Given the description of an element on the screen output the (x, y) to click on. 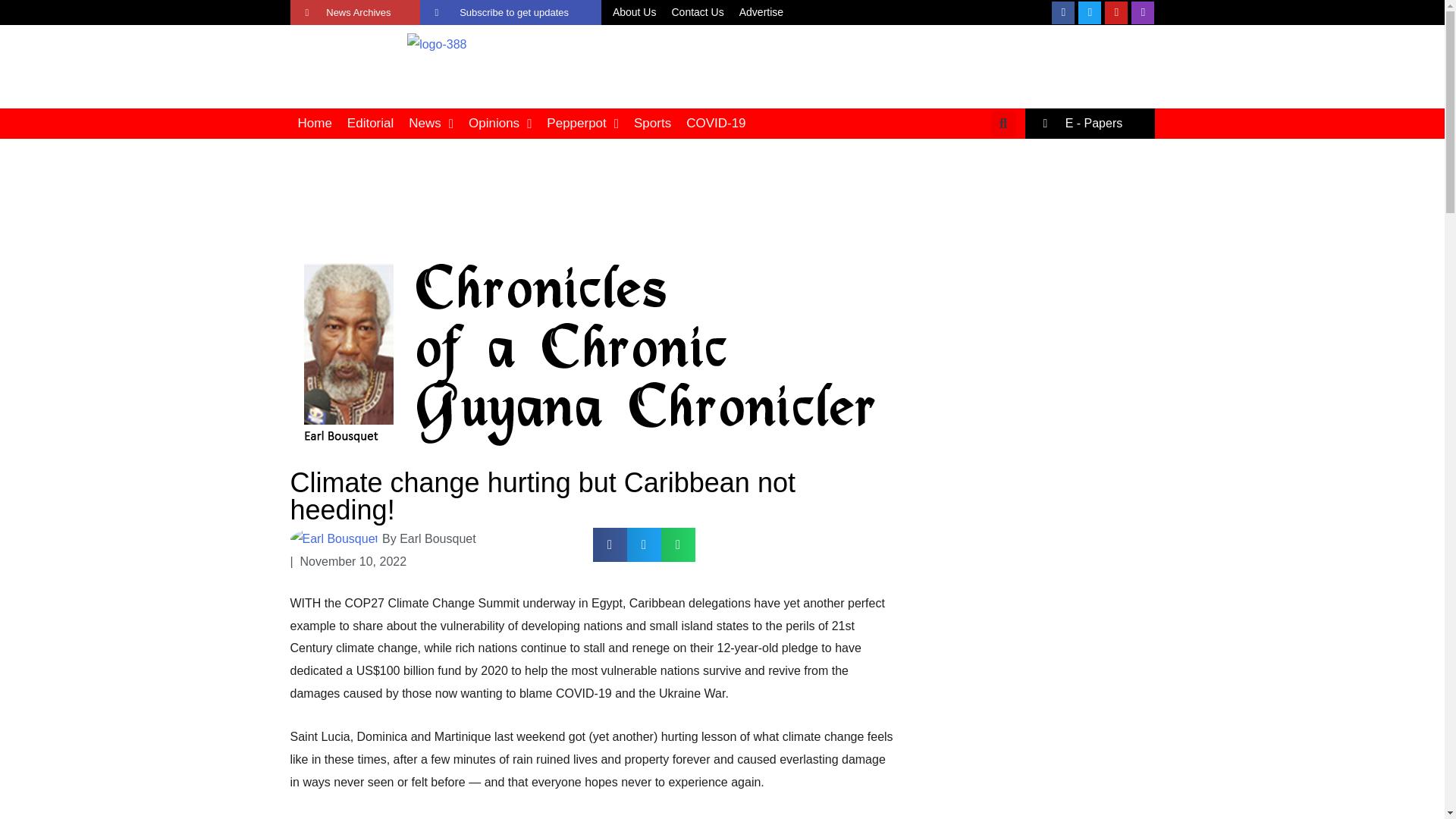
Twitter (1089, 12)
About Us (634, 13)
Contact Us (696, 13)
Instagram (1142, 12)
Opinions (499, 123)
logo-388 (436, 44)
Youtube (1115, 12)
News (431, 123)
Home (314, 123)
Facebook (1062, 12)
